Given the description of an element on the screen output the (x, y) to click on. 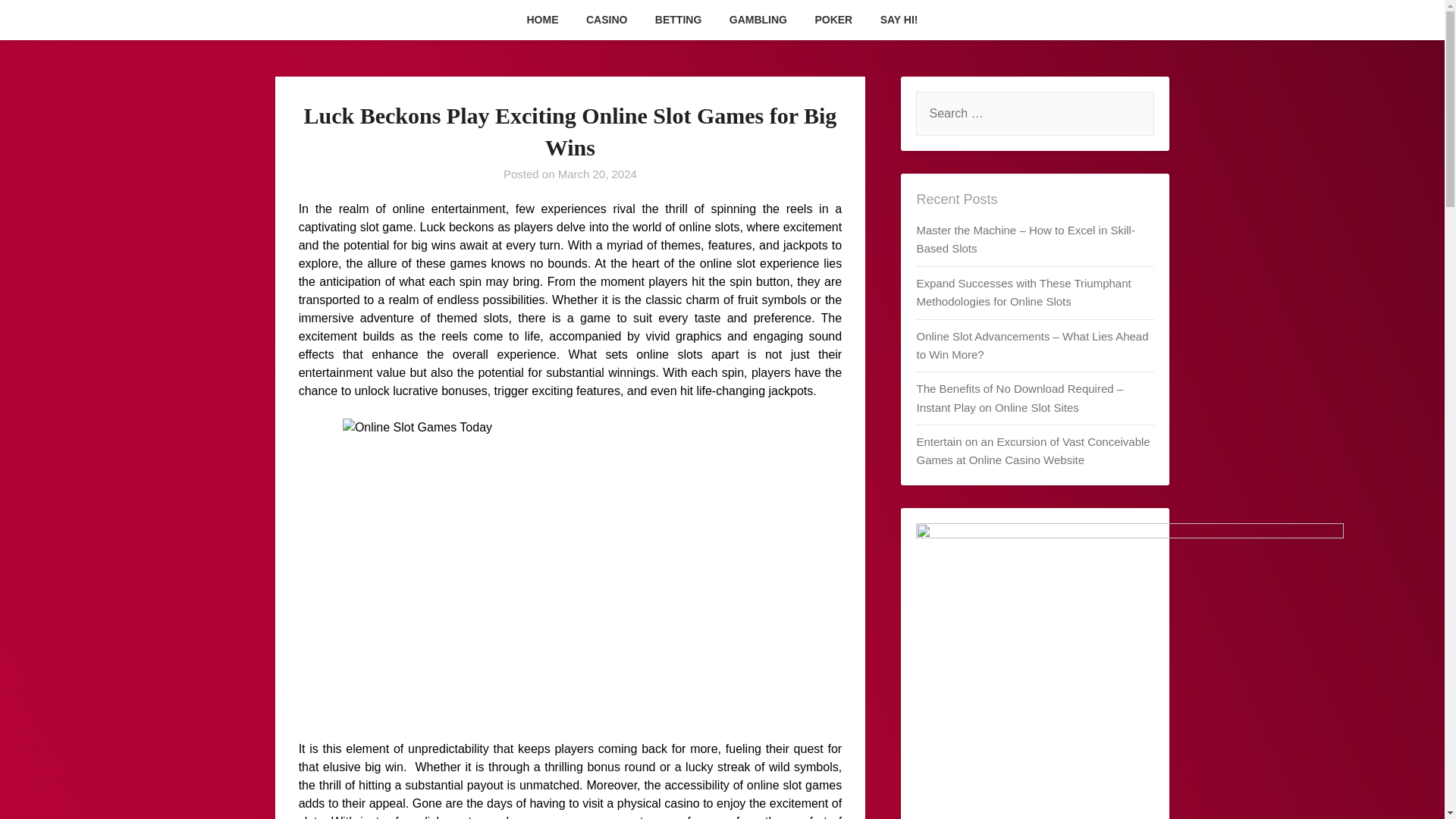
CASINO (606, 20)
SAY HI! (898, 20)
Search (37, 22)
GAMBLING (758, 20)
BETTING (678, 20)
POKER (833, 20)
HOME (541, 20)
March 20, 2024 (597, 173)
